Given the description of an element on the screen output the (x, y) to click on. 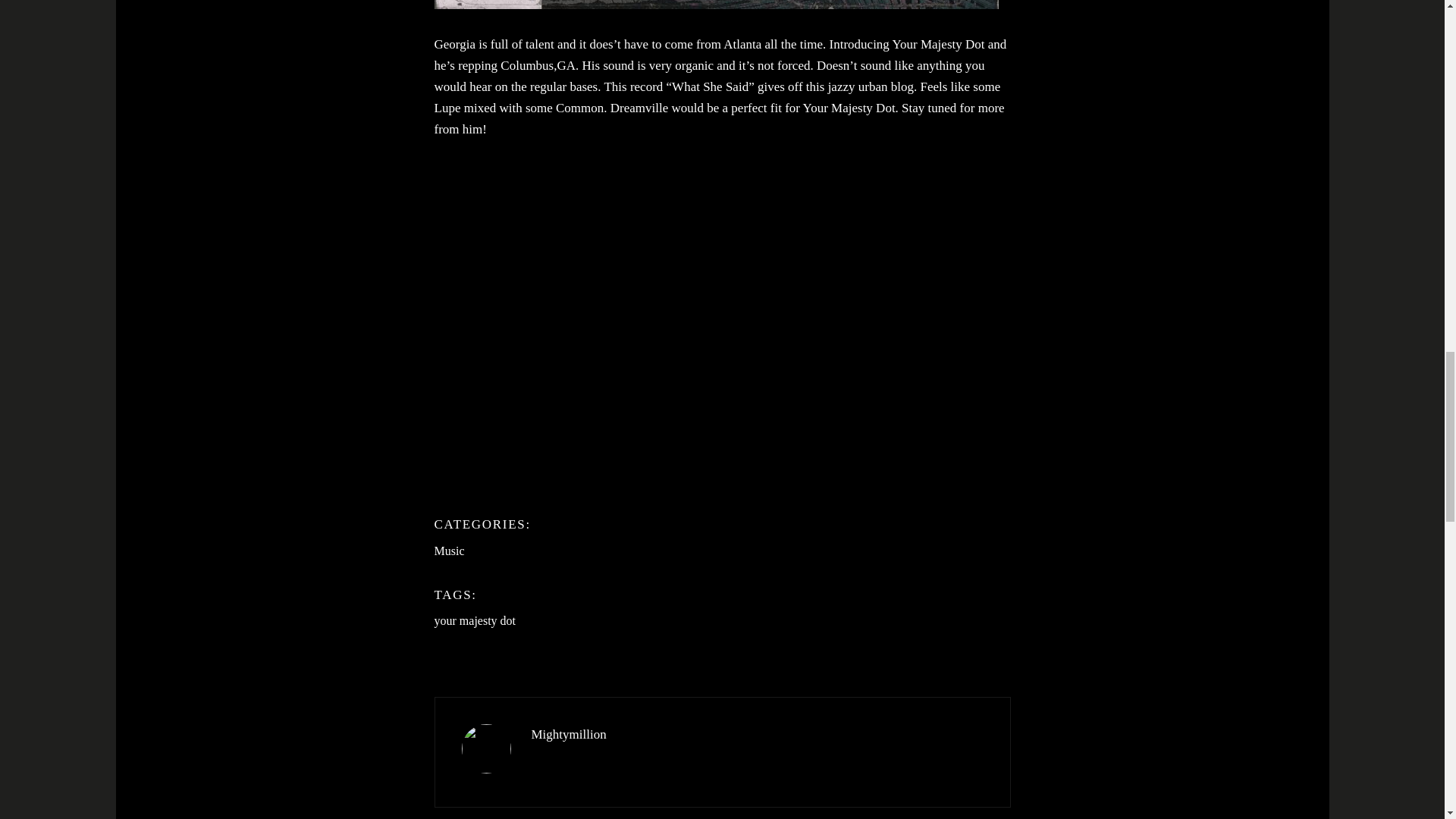
your majesty dot (474, 620)
Music (448, 551)
